Given the description of an element on the screen output the (x, y) to click on. 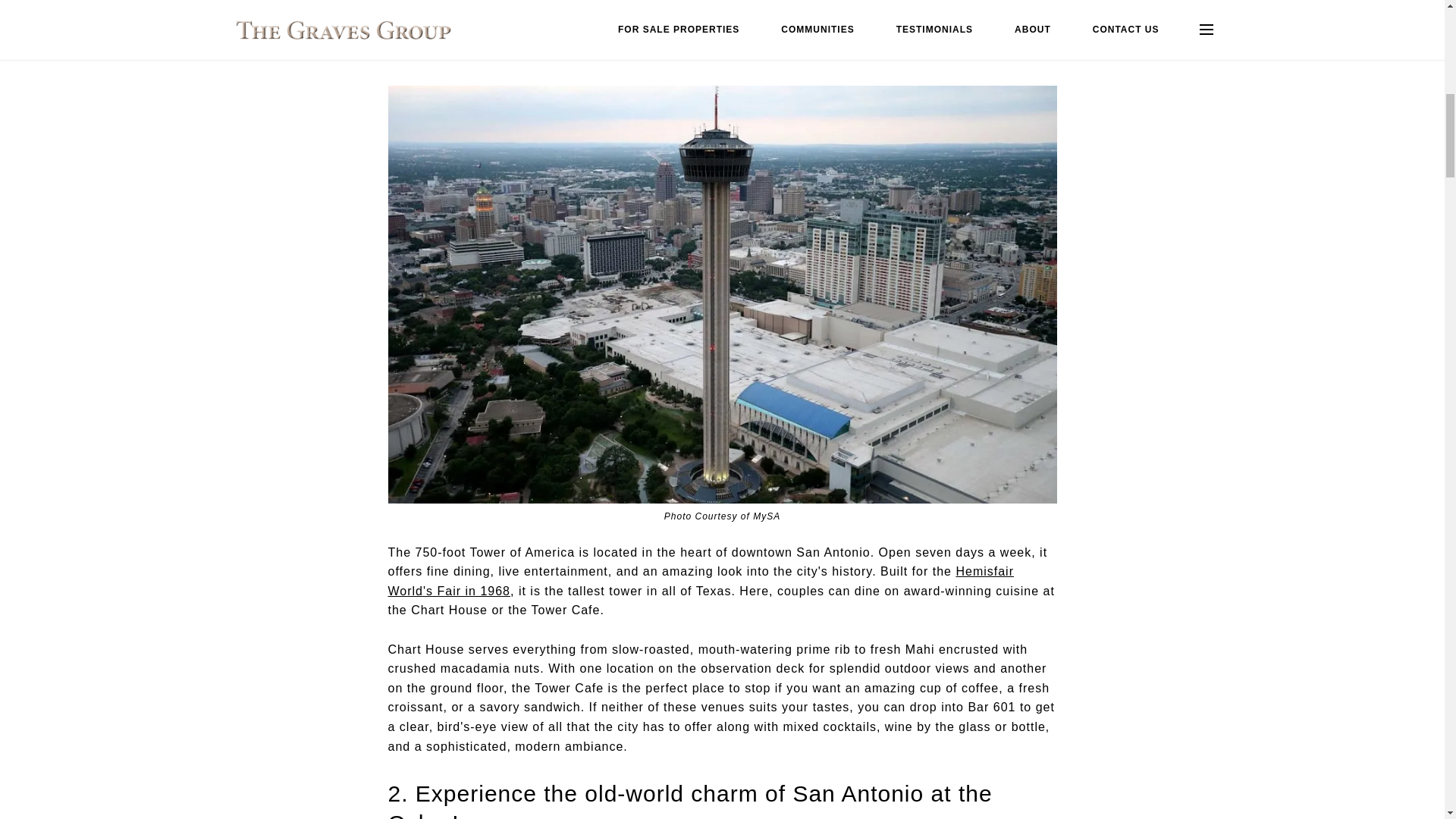
Hemisfair World's Fair in 1968 (700, 581)
